Given the description of an element on the screen output the (x, y) to click on. 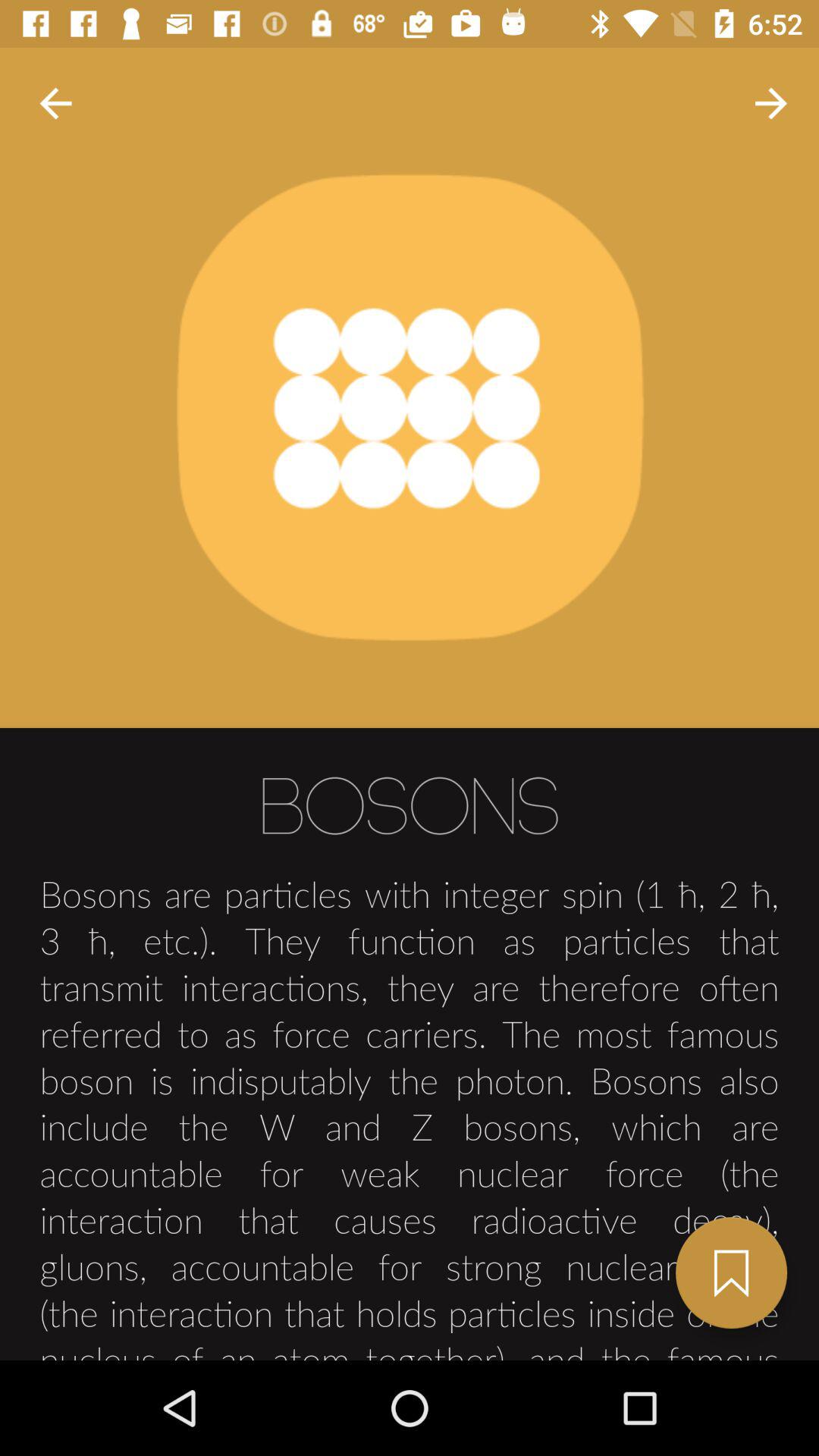
click arrow button (55, 103)
